Given the description of an element on the screen output the (x, y) to click on. 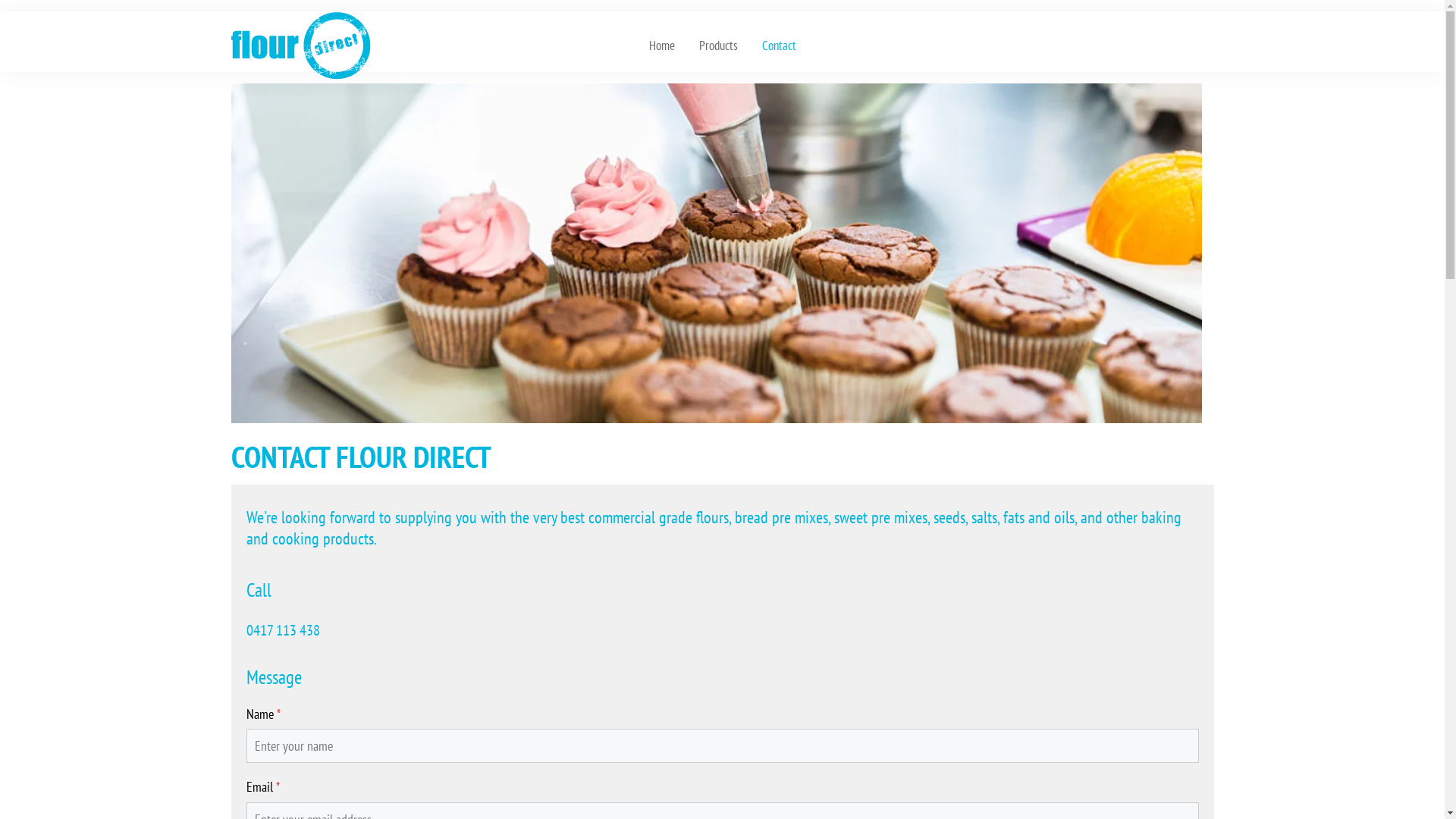
Products Element type: text (718, 45)
Home Element type: text (662, 45)
Contact Element type: text (778, 45)
Flour Direct Flour Wholesalers Melbourne Element type: hover (300, 43)
